Given the description of an element on the screen output the (x, y) to click on. 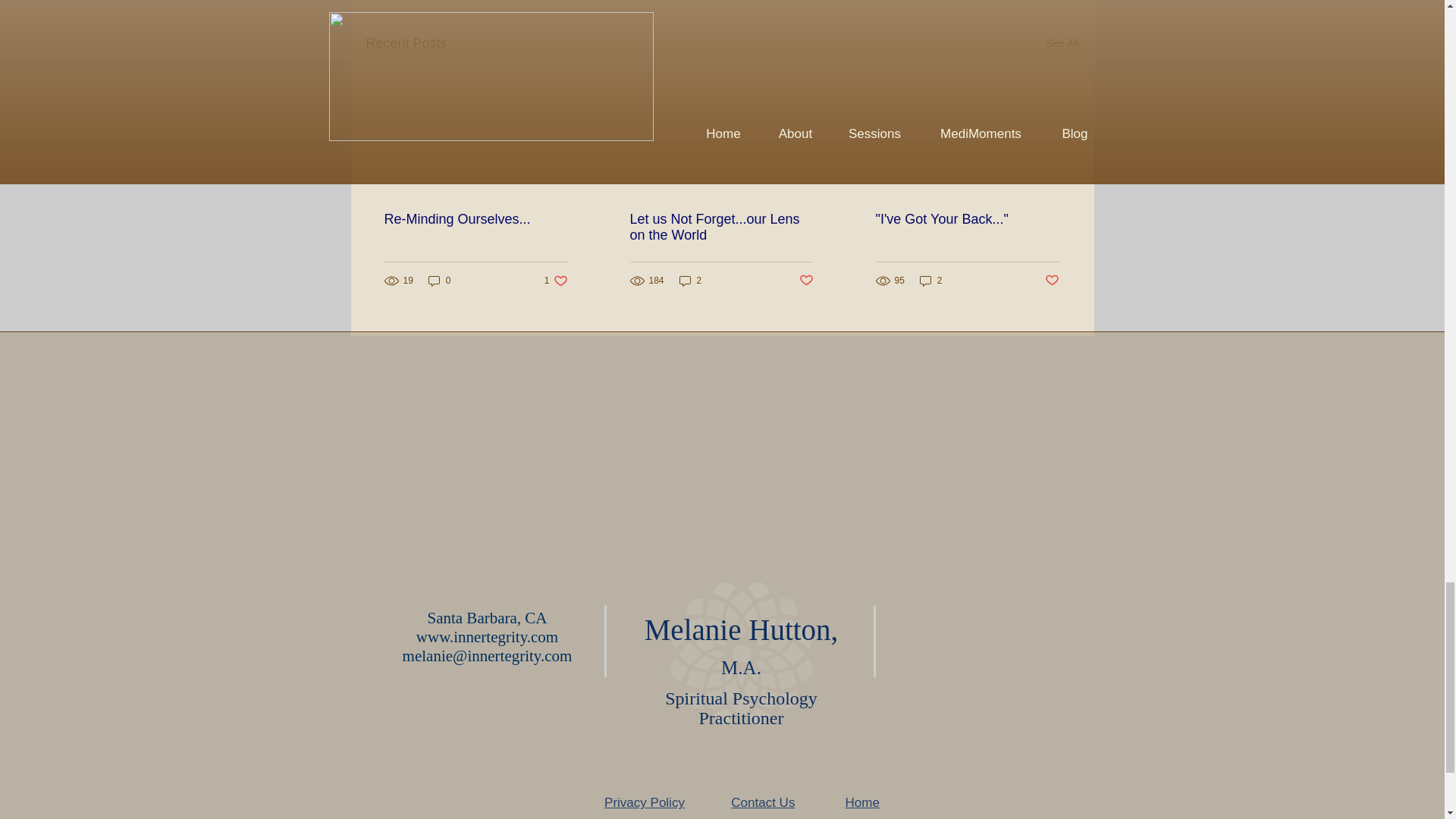
0 (439, 280)
Let us Not Forget...our Lens on the World (555, 280)
Melanie Hutton, M.A. (720, 227)
See All (741, 646)
2 (1061, 43)
"I've Got Your Back..." (690, 280)
Post not marked as liked (966, 219)
Re-Minding Ourselves... (1052, 280)
www.innertegrity.com (475, 219)
